Given the description of an element on the screen output the (x, y) to click on. 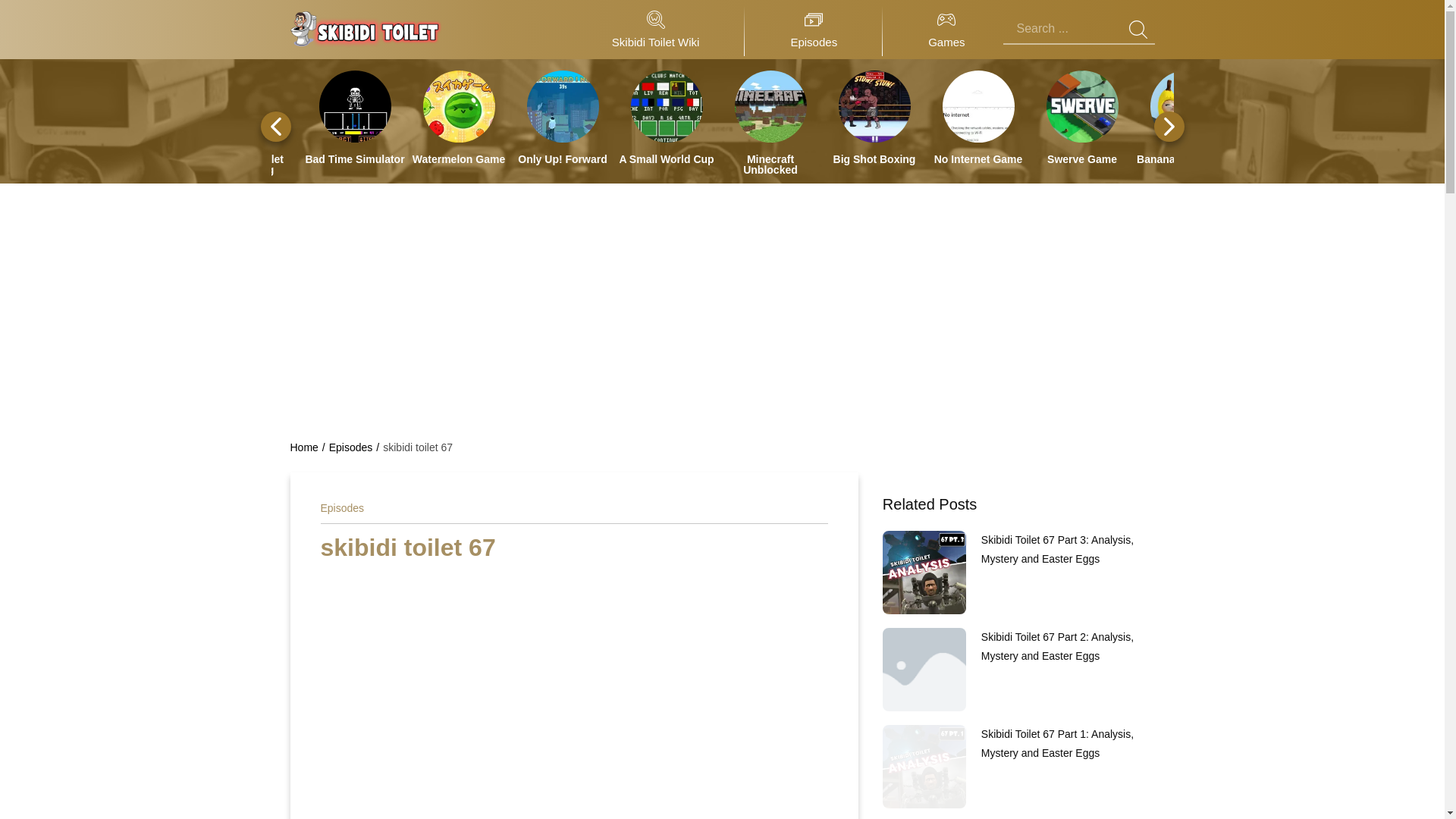
Bad Time Simulator (354, 117)
Swerve Game (1081, 117)
Only Up! Forward (562, 158)
Banana Cat Escape (1185, 158)
Only Up! Forward (562, 117)
Minecraft Unblocked (770, 122)
Minecraft Unblocked (770, 164)
Episodes (813, 29)
Skibidi Toilet Shooting (250, 122)
Big Shot Boxing (873, 158)
Watermelon Game (458, 117)
Swerve Game (1081, 158)
Games (946, 29)
Banana Cat Escape (1186, 117)
No Internet Game (978, 117)
